Given the description of an element on the screen output the (x, y) to click on. 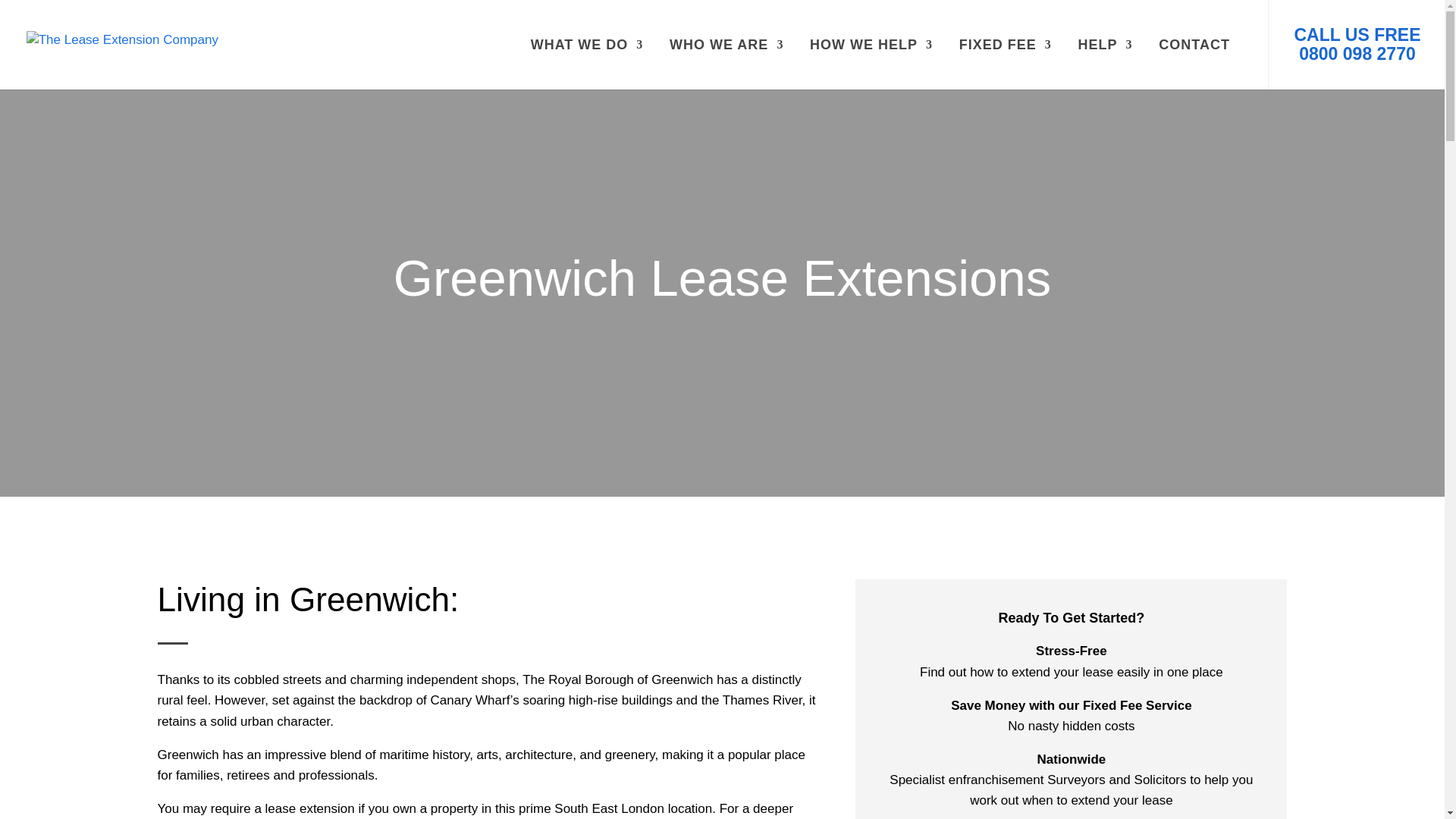
WHO WE ARE (726, 63)
WHAT WE DO (587, 63)
CONTACT (1194, 63)
FIXED FEE (1005, 63)
HELP (1105, 63)
HOW WE HELP (871, 63)
